Given the description of an element on the screen output the (x, y) to click on. 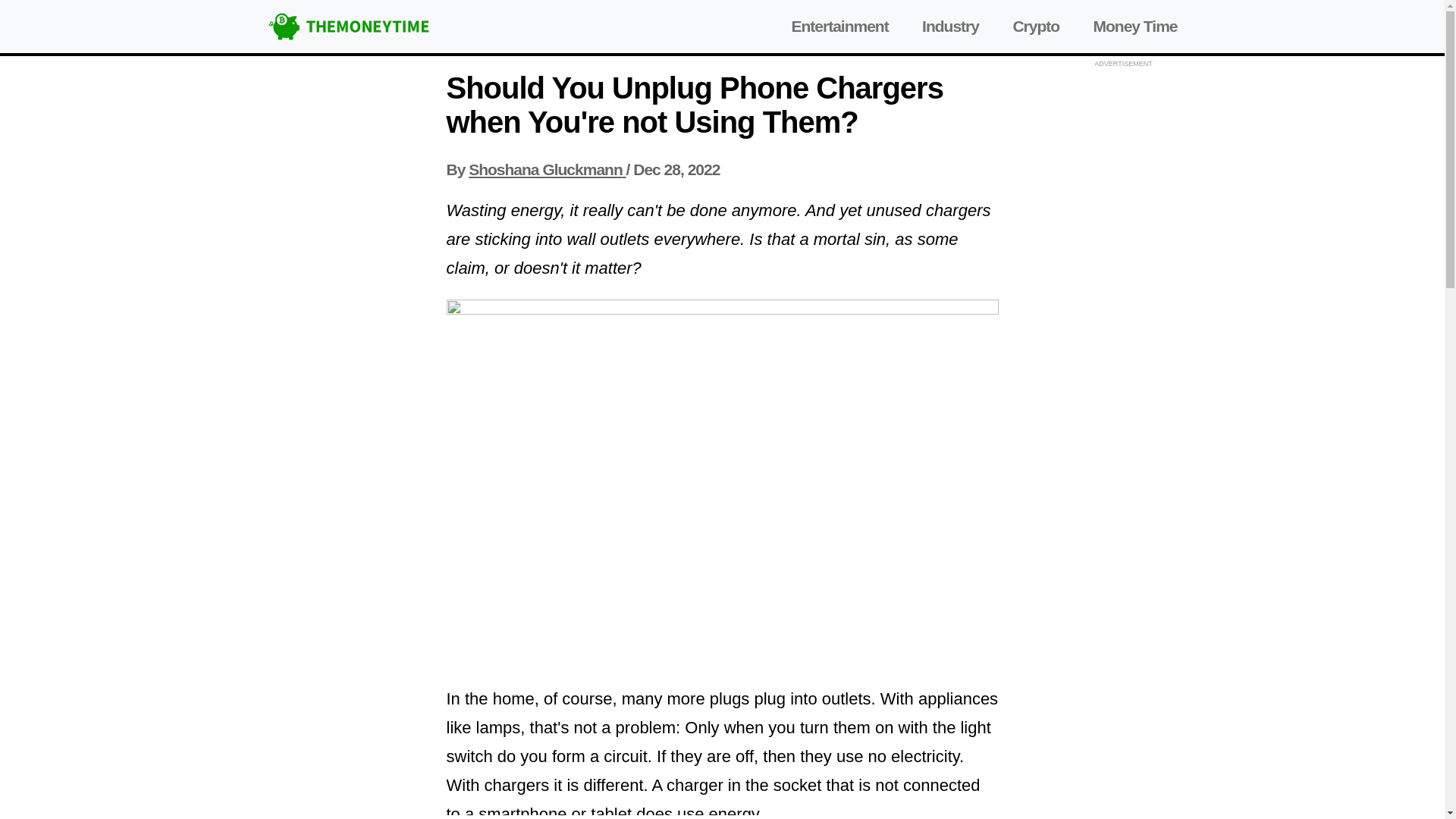
Crypto (1035, 26)
Industry (949, 26)
Money Time (1135, 26)
Entertainment (839, 26)
Shoshana Gluckmann (547, 169)
